Given the description of an element on the screen output the (x, y) to click on. 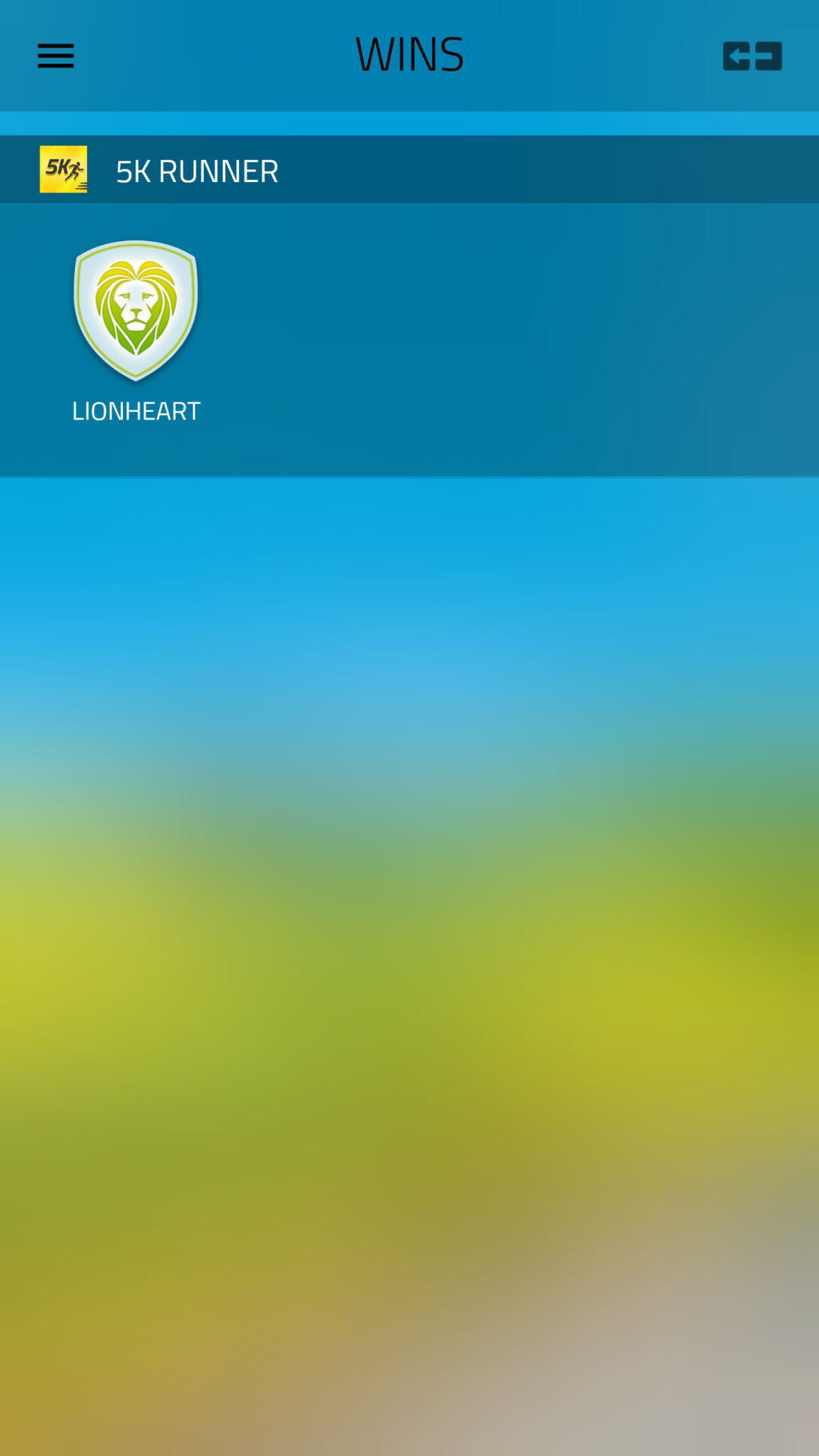
go to hamburger menu (61, 55)
